Given the description of an element on the screen output the (x, y) to click on. 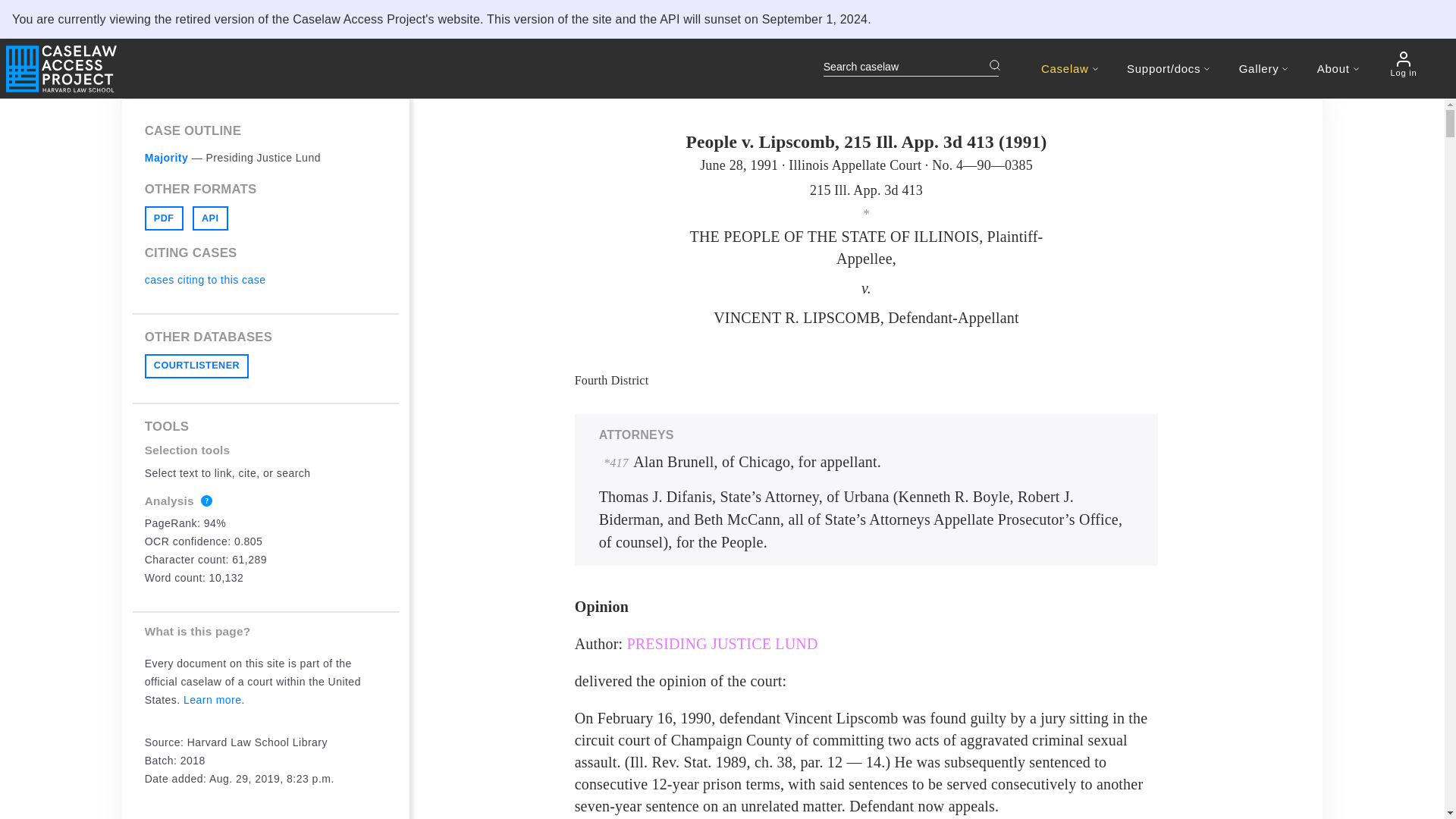
Gallery (1263, 68)
Log in (1403, 64)
About (1338, 68)
COURTLISTENER (196, 365)
cases citing to this case (205, 279)
PDF (163, 218)
Majority (166, 157)
API (210, 218)
Learn more (212, 699)
